Given the description of an element on the screen output the (x, y) to click on. 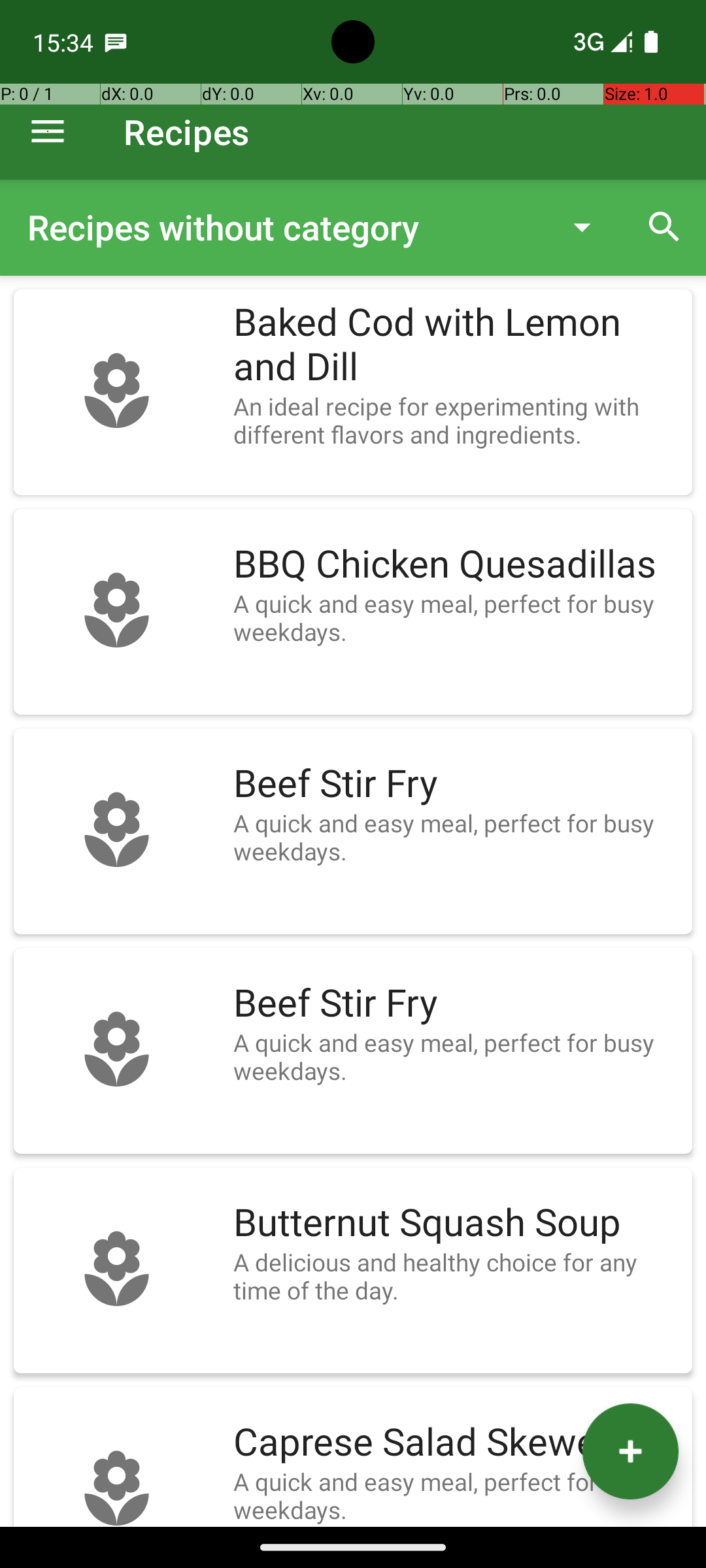
Recipes without category Element type: android.widget.TextView (283, 226)
Baked Cod with Lemon and Dill Element type: android.widget.TextView (455, 344)
BBQ Chicken Quesadillas Element type: android.widget.TextView (455, 564)
